Given the description of an element on the screen output the (x, y) to click on. 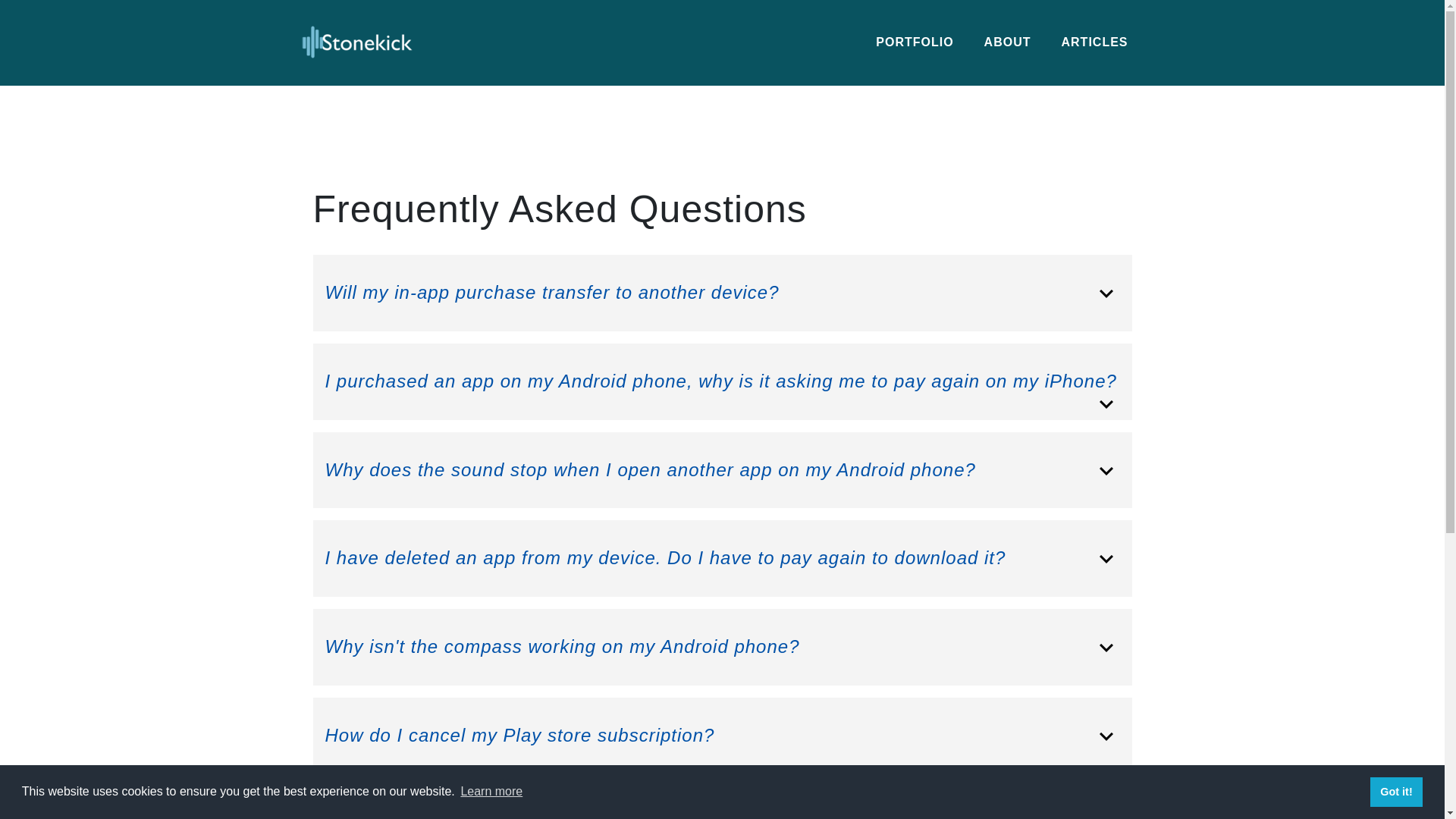
PORTFOLIO (914, 42)
Got it! (1396, 791)
Will my in-app purchase transfer to another device? (721, 292)
ABOUT (1007, 42)
ARTICLES (1094, 42)
ARTICLES (1094, 42)
Why isn't the compass working on my Android phone? (721, 647)
Learn more (491, 791)
